Given the description of an element on the screen output the (x, y) to click on. 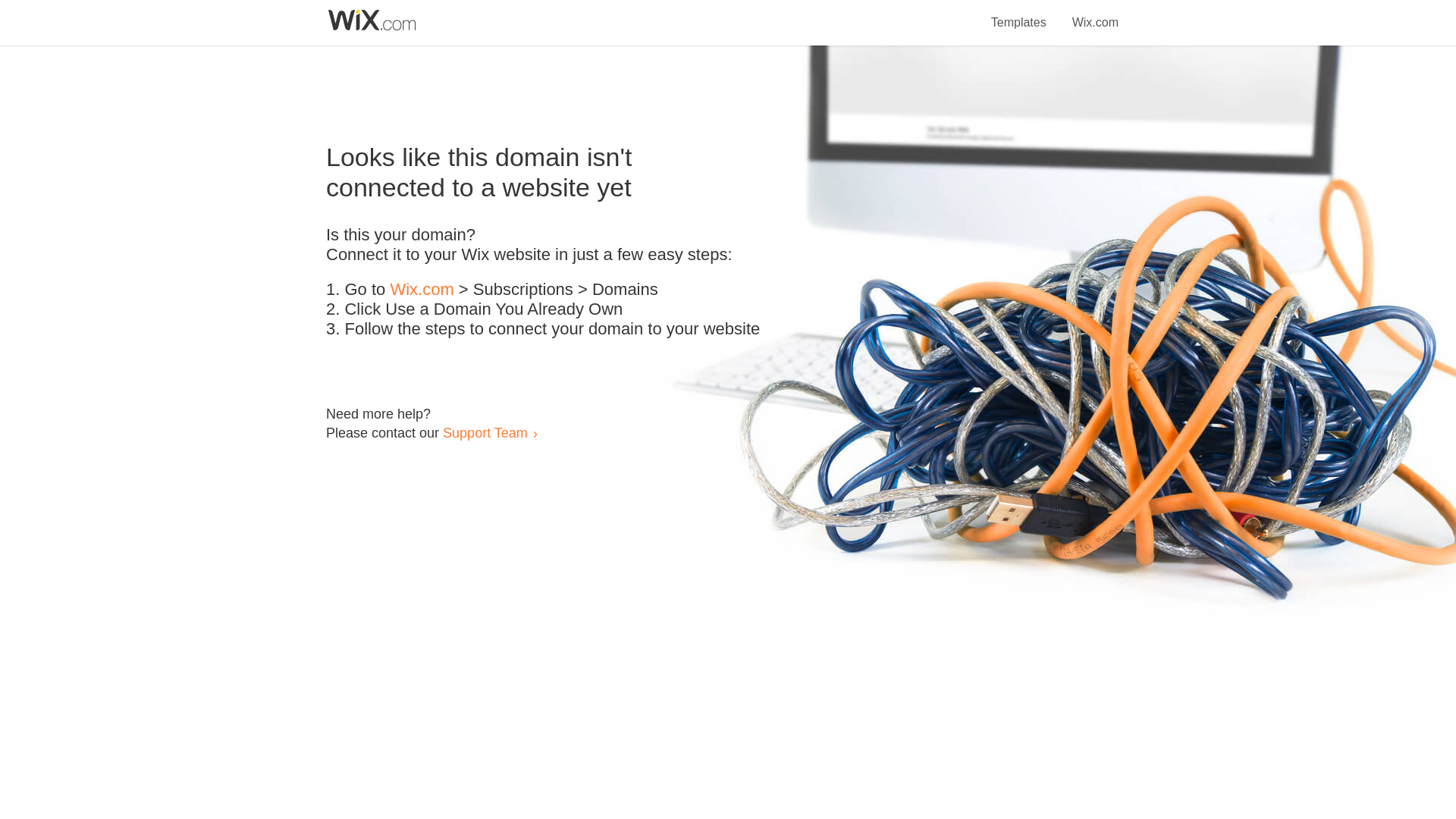
Support Team (484, 432)
Templates (1018, 14)
Wix.com (421, 289)
Wix.com (1095, 14)
